Given the description of an element on the screen output the (x, y) to click on. 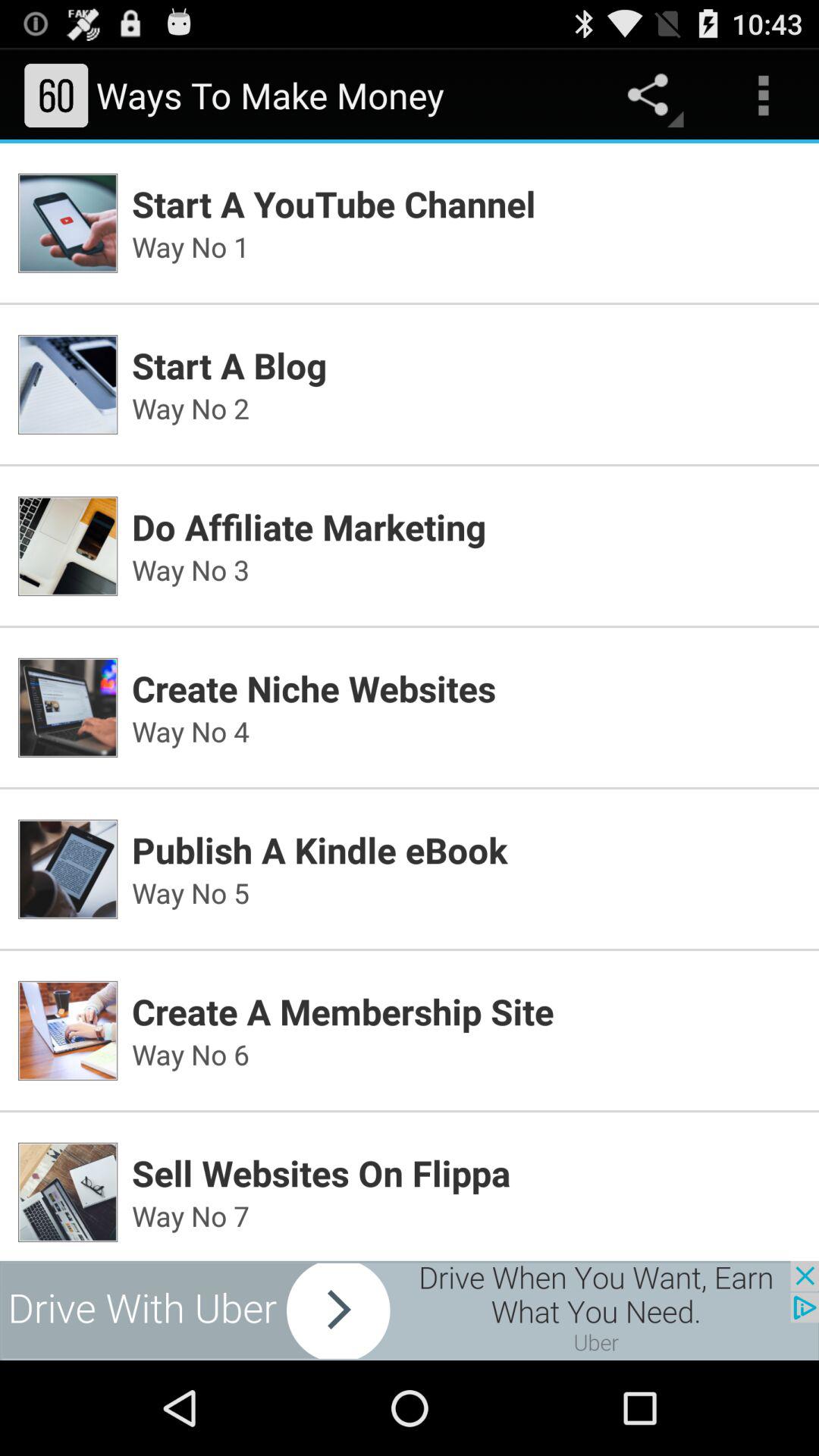
open advertisement (409, 1310)
